Given the description of an element on the screen output the (x, y) to click on. 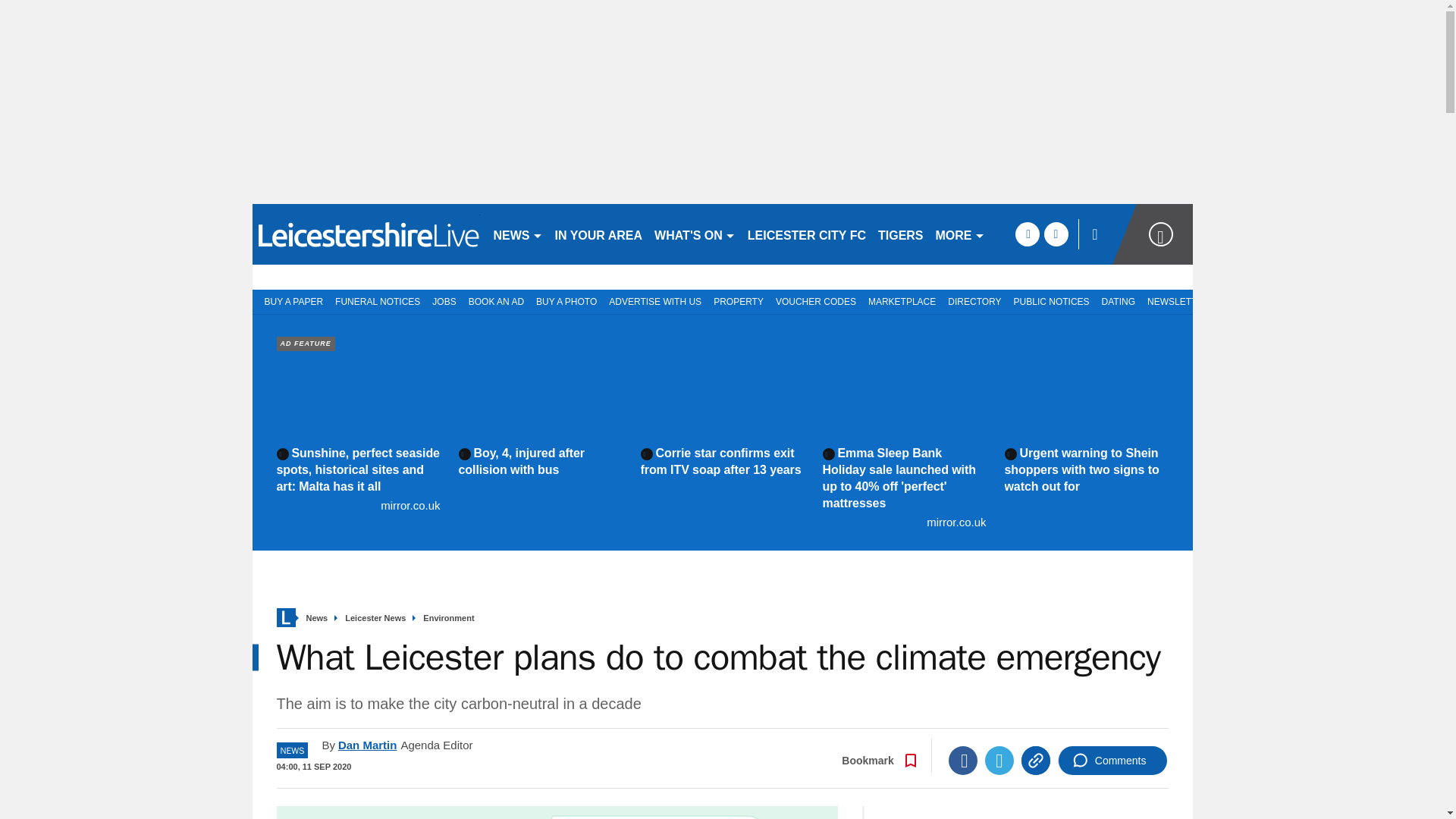
Twitter (999, 760)
Comments (1112, 760)
IN YOUR AREA (598, 233)
leicestermercury (365, 233)
NEWS (517, 233)
LEICESTER CITY FC (806, 233)
facebook (1026, 233)
TIGERS (901, 233)
MORE (960, 233)
Facebook (962, 760)
